Given the description of an element on the screen output the (x, y) to click on. 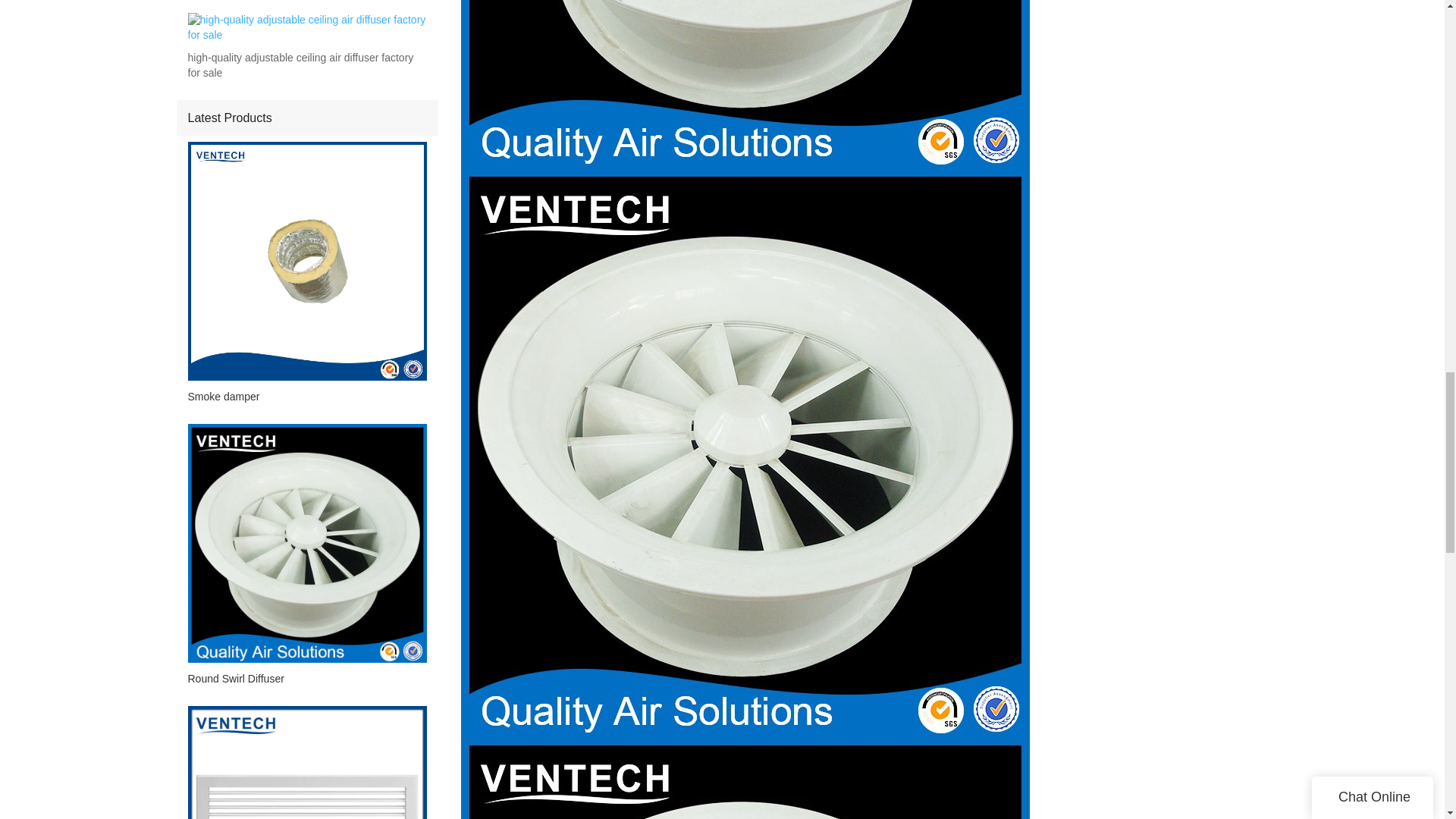
Round Swirl Diffuser (306, 678)
Smoke damper (306, 396)
